Given the description of an element on the screen output the (x, y) to click on. 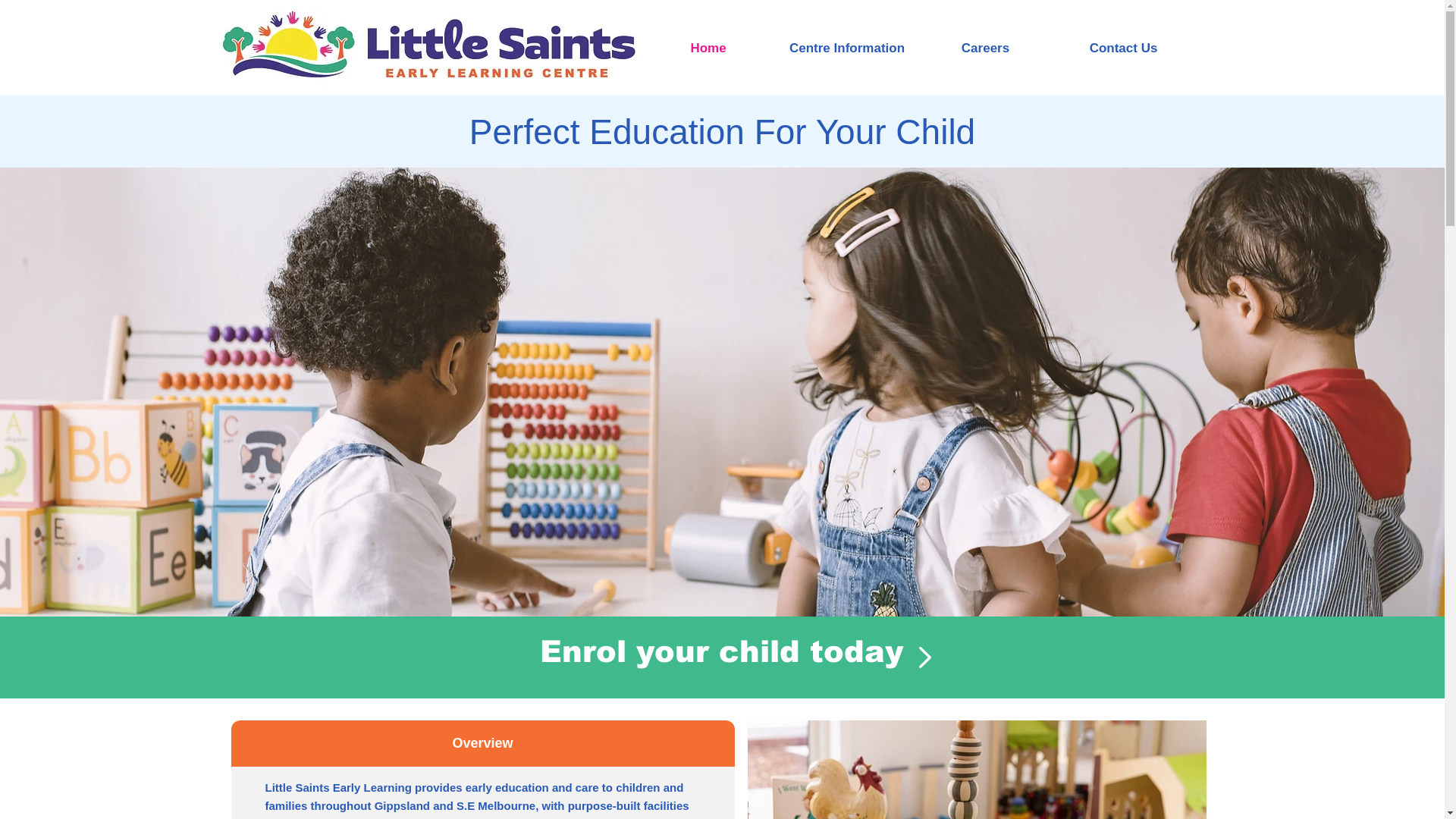
Careers Element type: text (985, 48)
Contact Us Element type: text (1123, 48)
Home Element type: text (707, 48)
